Given the description of an element on the screen output the (x, y) to click on. 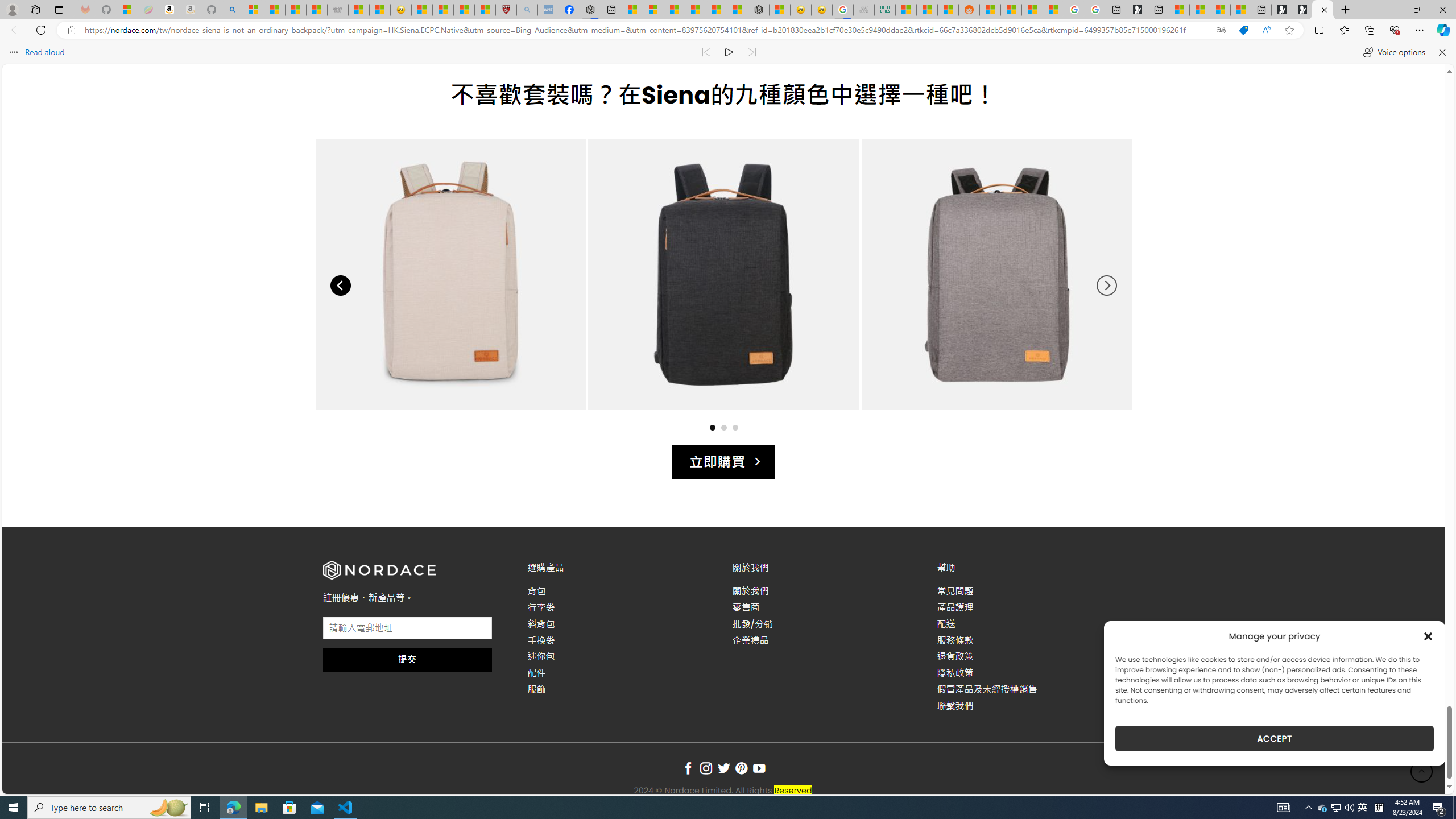
Follow on YouTube (758, 768)
This site has coupons! Shopping in Microsoft Edge (1243, 29)
